Given the description of an element on the screen output the (x, y) to click on. 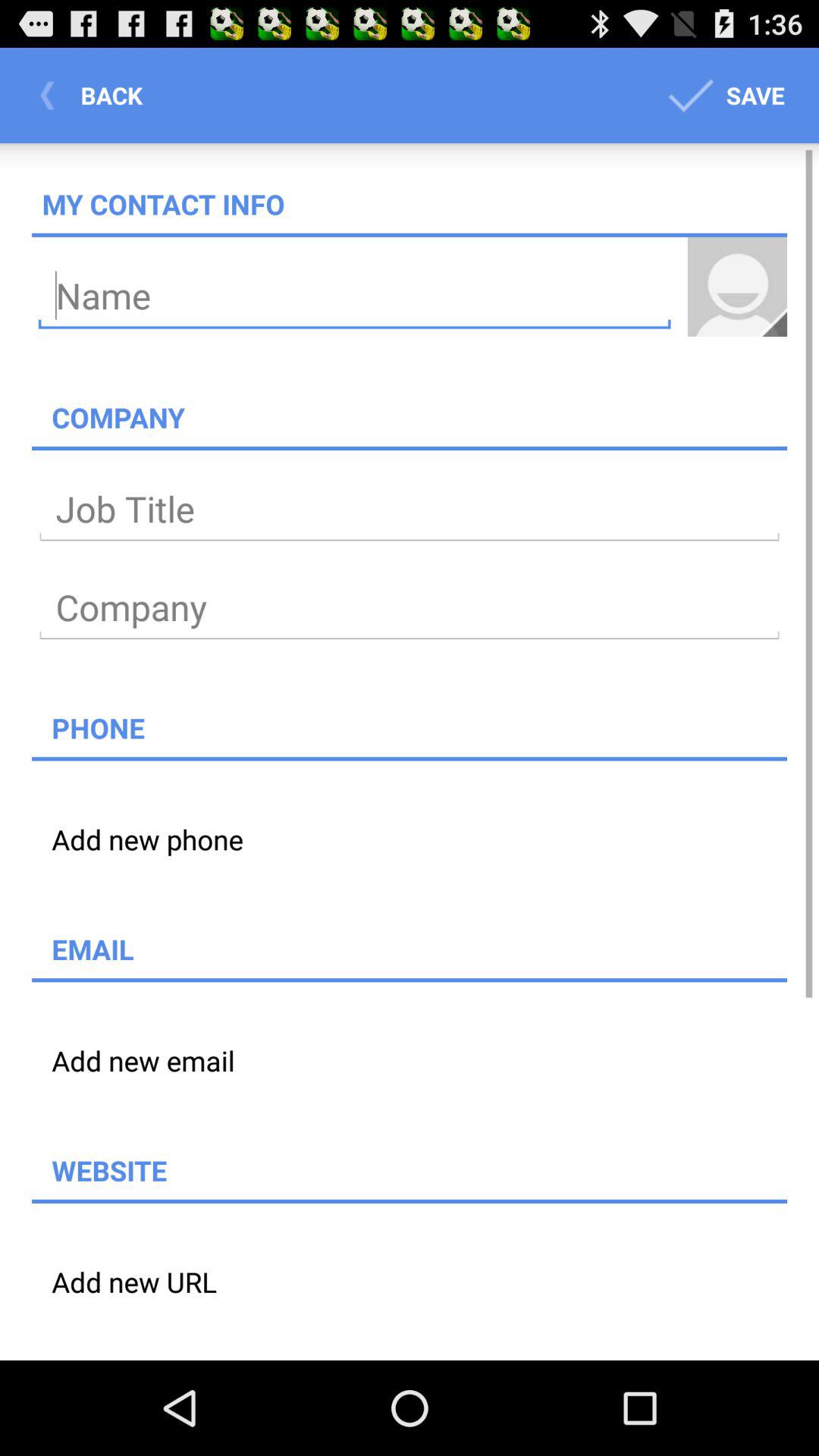
click item at the top left corner (95, 95)
